Given the description of an element on the screen output the (x, y) to click on. 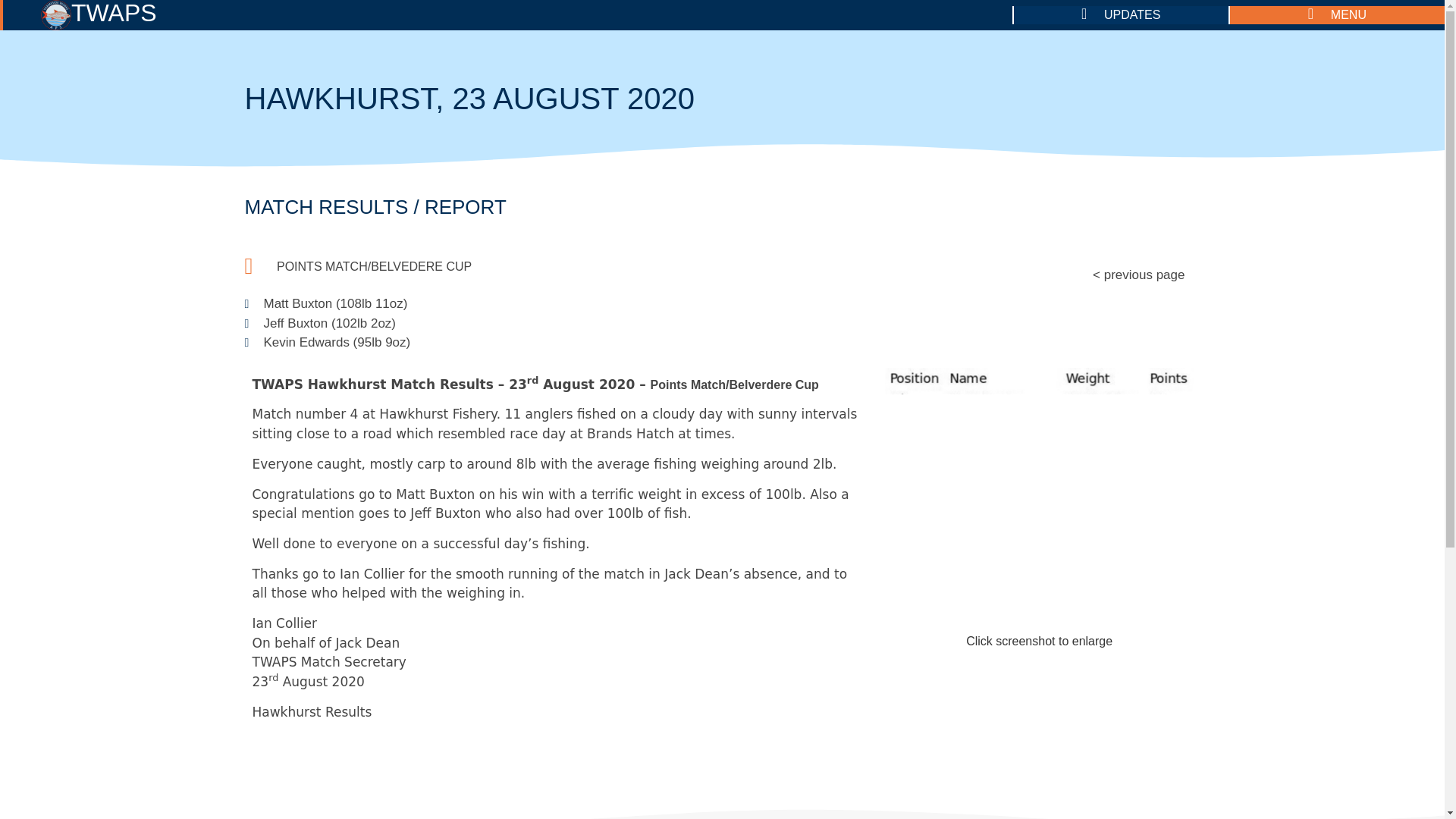
UPDATES (1120, 14)
Thameside Works and Angling Preservation Society (55, 15)
TWAPS (98, 13)
